Given the description of an element on the screen output the (x, y) to click on. 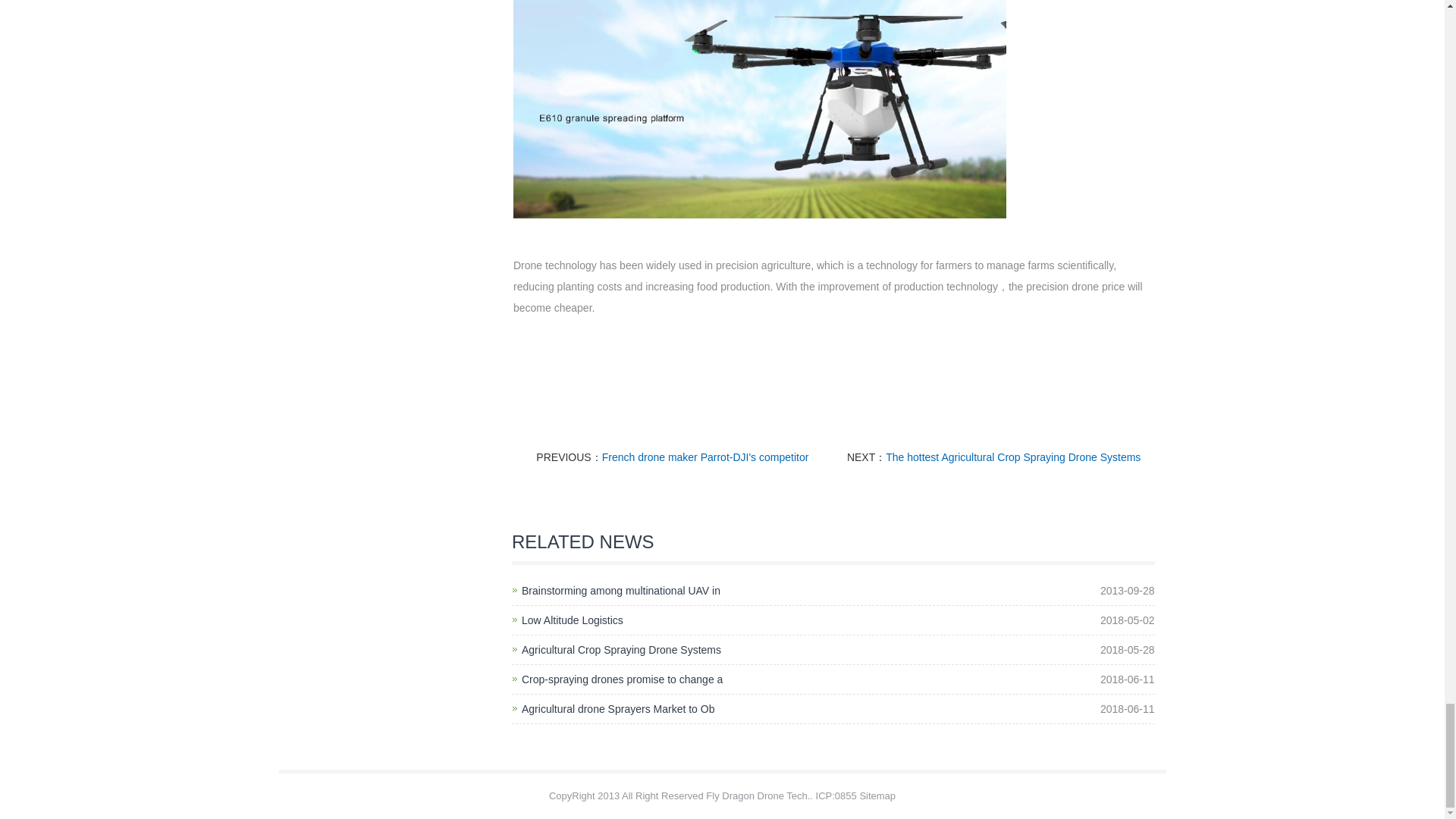
The hottest Agricultural Crop Spraying Drone Systems (1012, 457)
Low Altitude Logistics (572, 620)
Low Altitude Logistics (572, 620)
Crop-spraying drones promise to change agriculture (621, 679)
French drone maker Parrot-DJI's competitor (705, 457)
Agricultural Crop Spraying Drone Systems: Worth the Risk? (620, 649)
Brainstorming among multinational UAV in (620, 590)
